Given the description of an element on the screen output the (x, y) to click on. 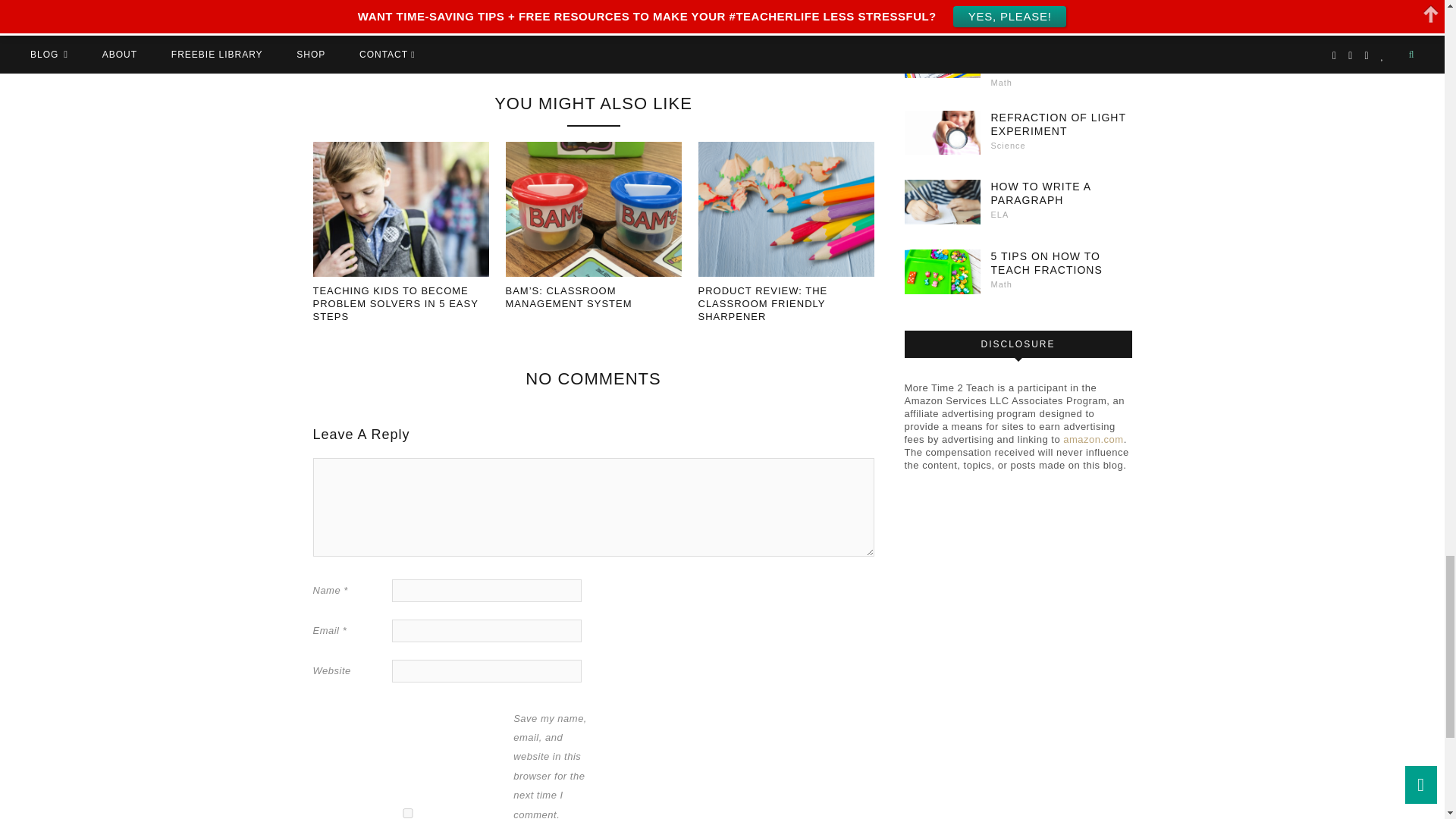
yes (407, 813)
